Given the description of an element on the screen output the (x, y) to click on. 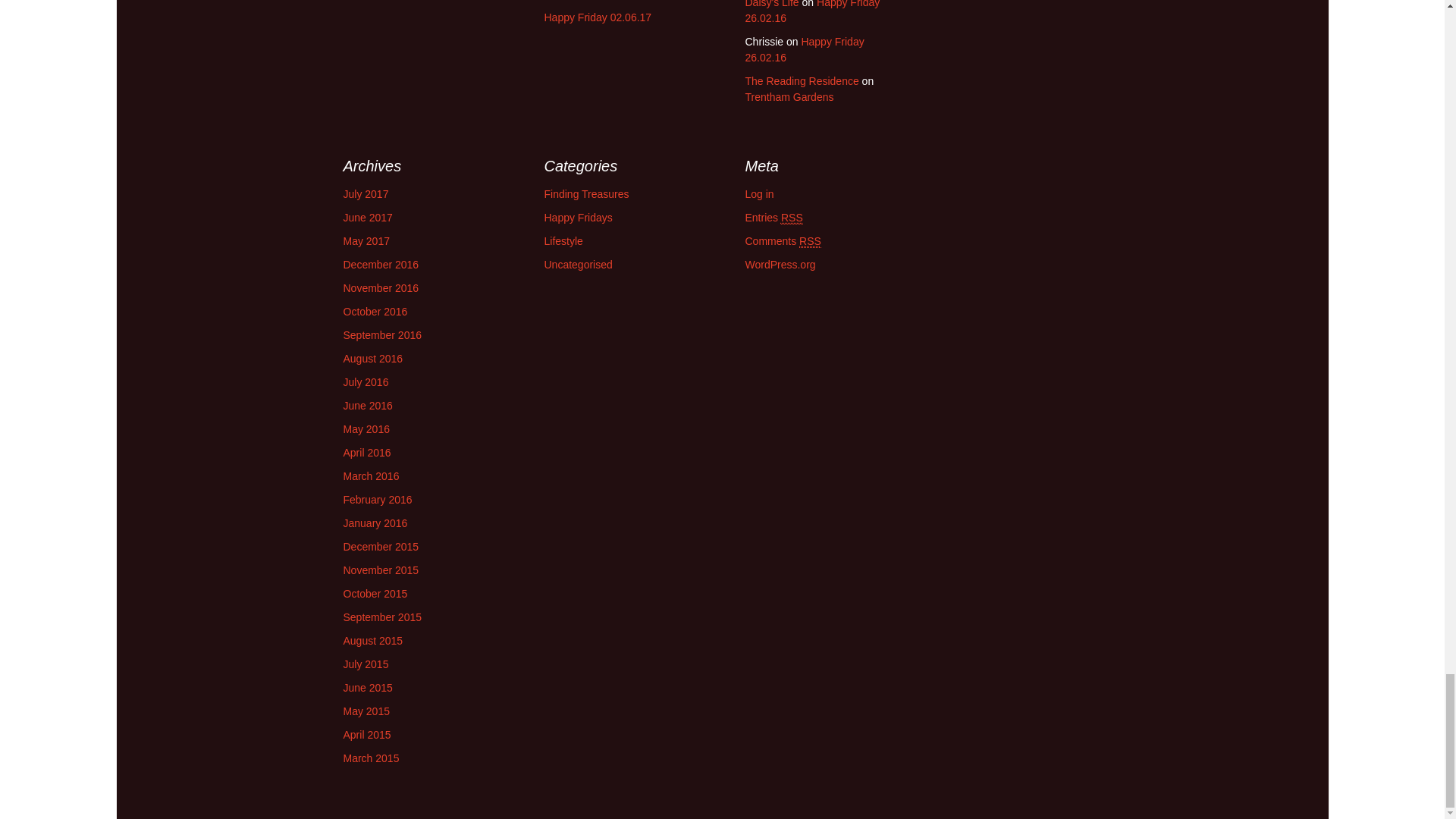
July 2017 (365, 193)
Happy Friday 02.06.17 (598, 17)
Really Simple Syndication (791, 217)
Happy Friday 26.02.16 (803, 49)
The Reading Residence (801, 80)
June 2017 (366, 217)
December 2016 (380, 264)
Trentham Gardens (788, 96)
May 2017 (365, 241)
